Given the description of an element on the screen output the (x, y) to click on. 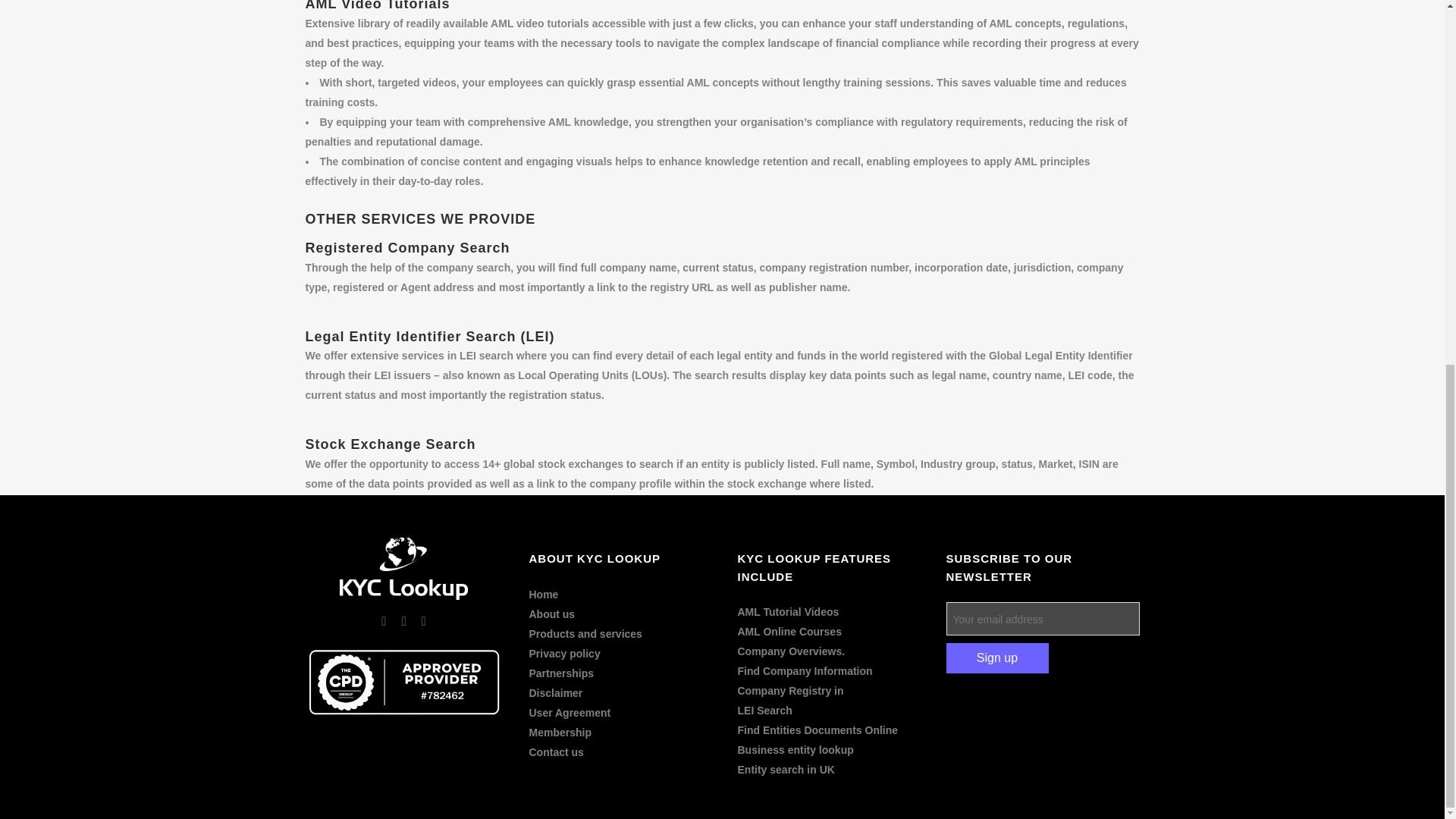
Sign up (997, 657)
